Given the description of an element on the screen output the (x, y) to click on. 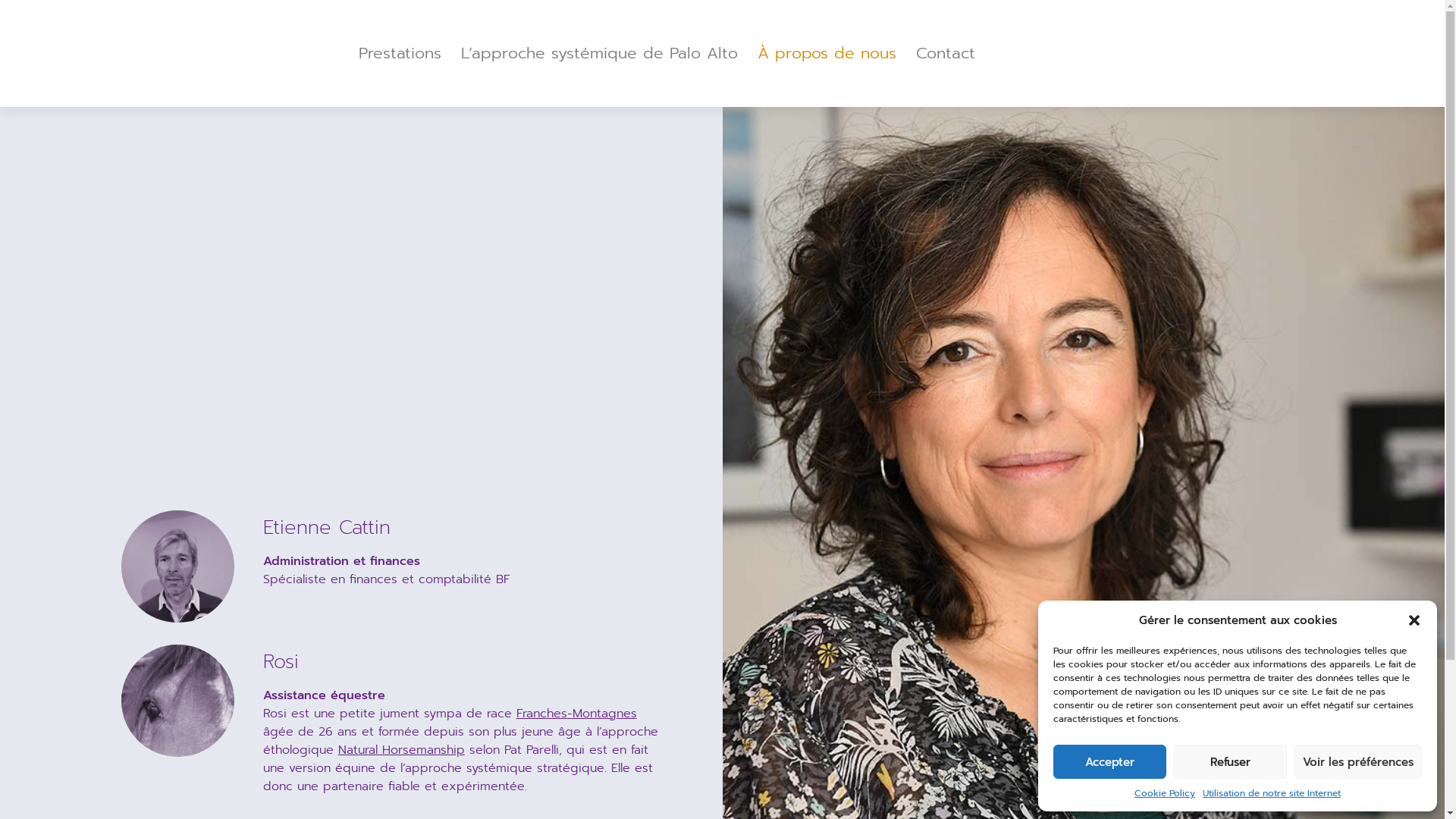
Franches-Montagnes Element type: text (576, 713)
Cookie Policy Element type: text (1164, 793)
Natural Horsemanship Element type: text (401, 749)
Contact Element type: text (945, 52)
Accepter Element type: text (1109, 761)
Refuser Element type: text (1229, 761)
Prestations Element type: text (399, 52)
Utilisation de notre site Internet Element type: text (1271, 793)
